Given the description of an element on the screen output the (x, y) to click on. 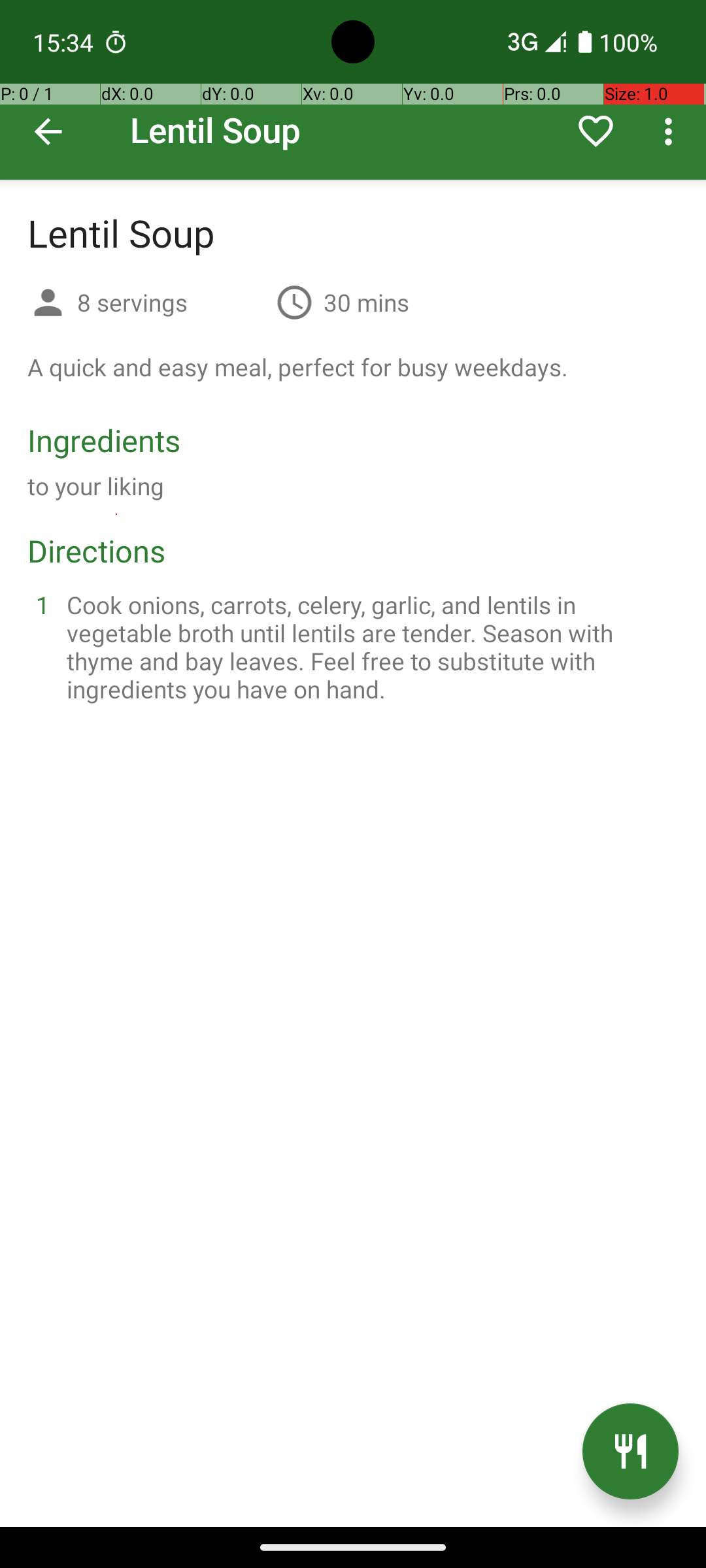
to your liking Element type: android.widget.TextView (95, 485)
Cook onions, carrots, celery, garlic, and lentils in vegetable broth until lentils are tender. Season with thyme and bay leaves. Feel free to substitute with ingredients you have on hand. Element type: android.widget.TextView (368, 646)
